Given the description of an element on the screen output the (x, y) to click on. 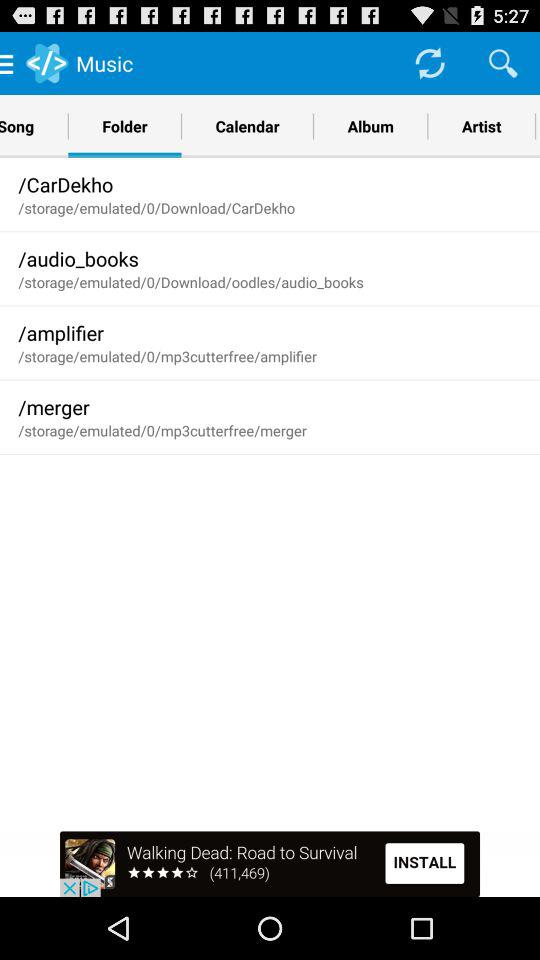
search the app (503, 62)
